Given the description of an element on the screen output the (x, y) to click on. 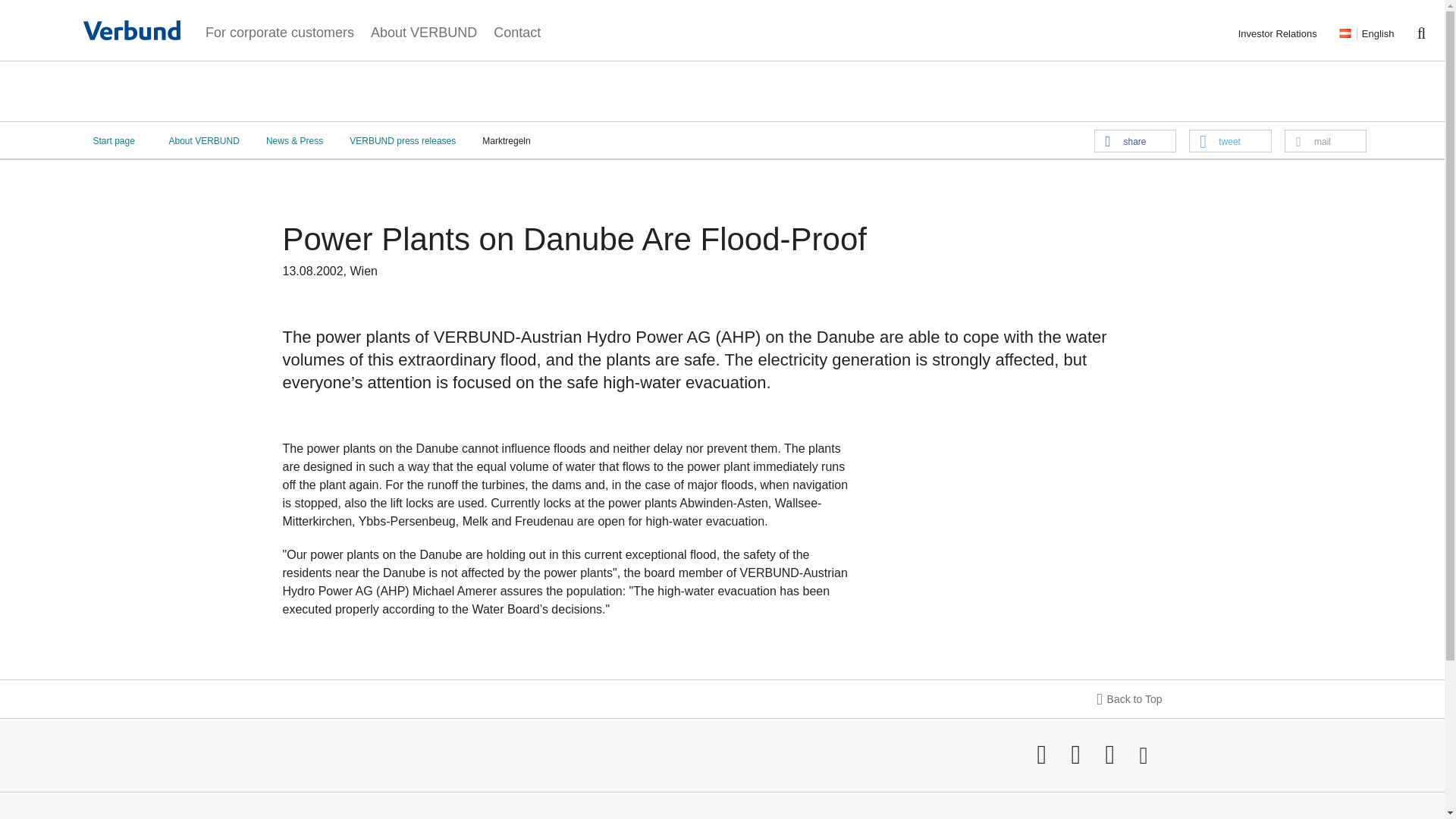
Share on Facebook (1133, 140)
Share on Twitter (1230, 140)
About VERBUND (423, 30)
For corporate customers (279, 30)
Back to Top (721, 699)
Send by email (1325, 140)
